Given the description of an element on the screen output the (x, y) to click on. 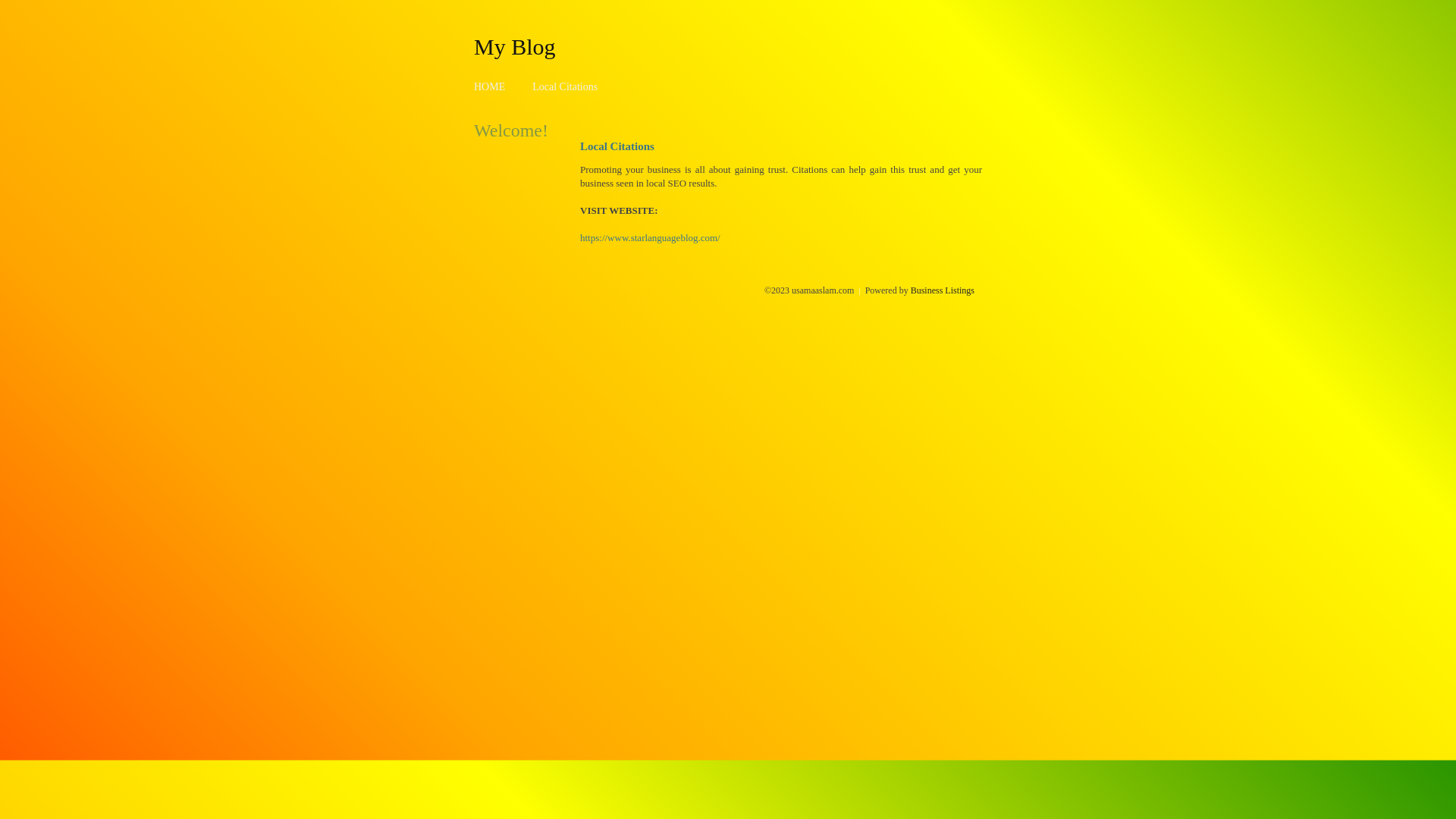
My Blog Element type: text (514, 46)
https://www.starlanguageblog.com/ Element type: text (650, 237)
Business Listings Element type: text (942, 290)
Local Citations Element type: text (564, 86)
HOME Element type: text (489, 86)
